Given the description of an element on the screen output the (x, y) to click on. 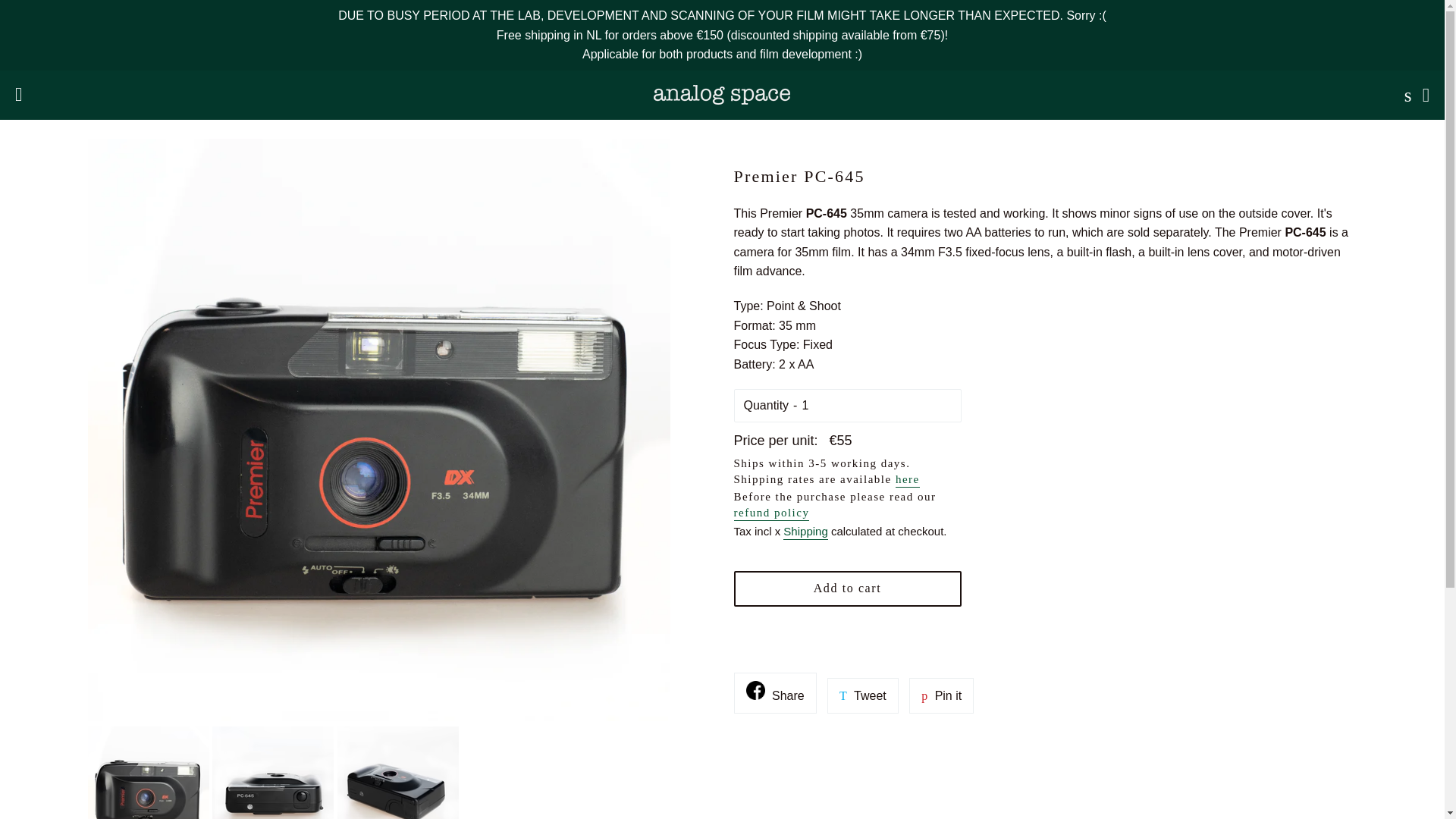
Add to cart (846, 588)
Share on Facebook (774, 693)
refund policy (774, 693)
Tweet on Twitter (771, 513)
Pin on Pinterest (941, 696)
Shipping (862, 696)
here (941, 696)
